Given the description of an element on the screen output the (x, y) to click on. 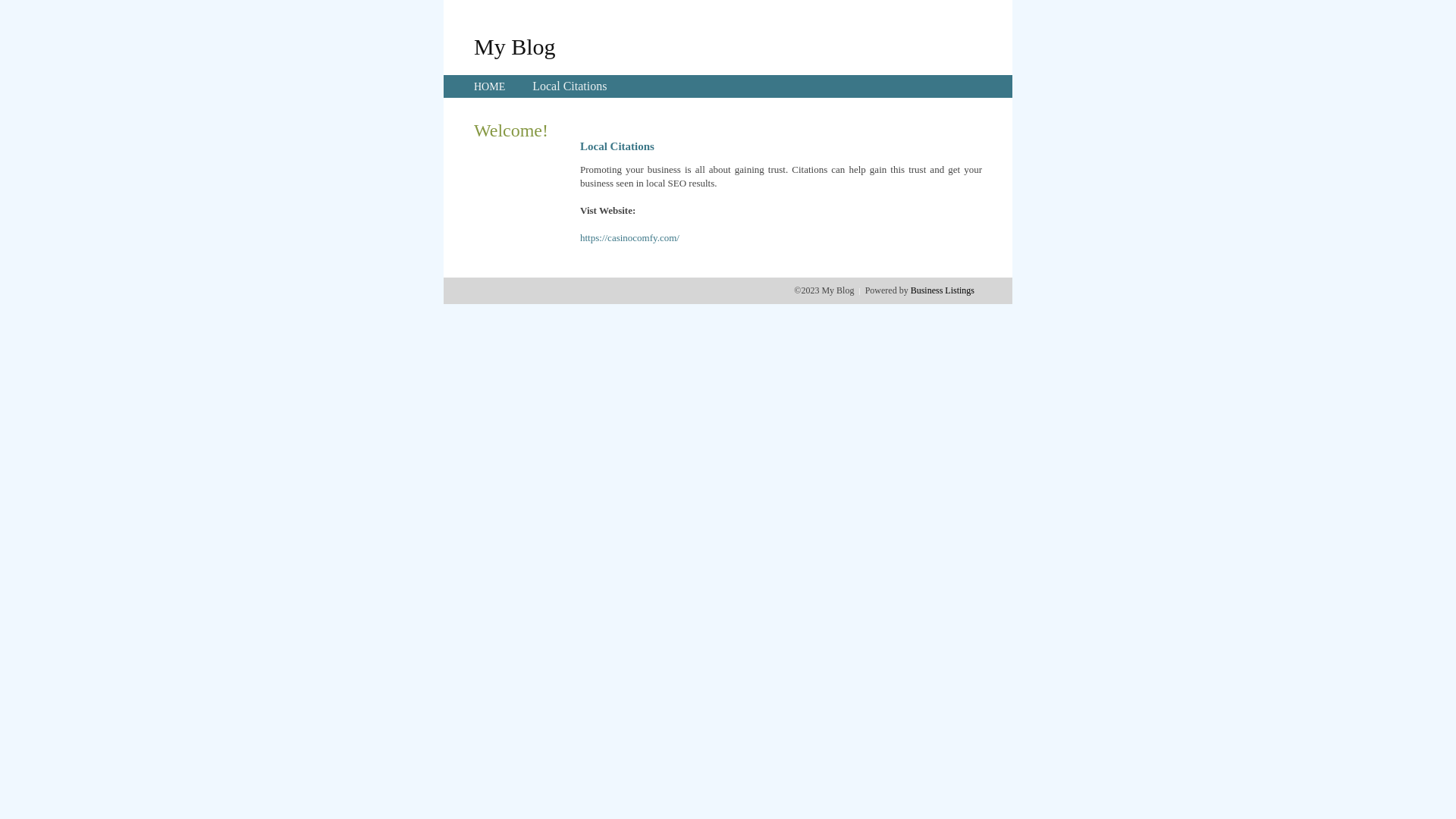
Business Listings Element type: text (942, 290)
https://casinocomfy.com/ Element type: text (629, 237)
HOME Element type: text (489, 86)
My Blog Element type: text (514, 46)
Local Citations Element type: text (569, 85)
